Given the description of an element on the screen output the (x, y) to click on. 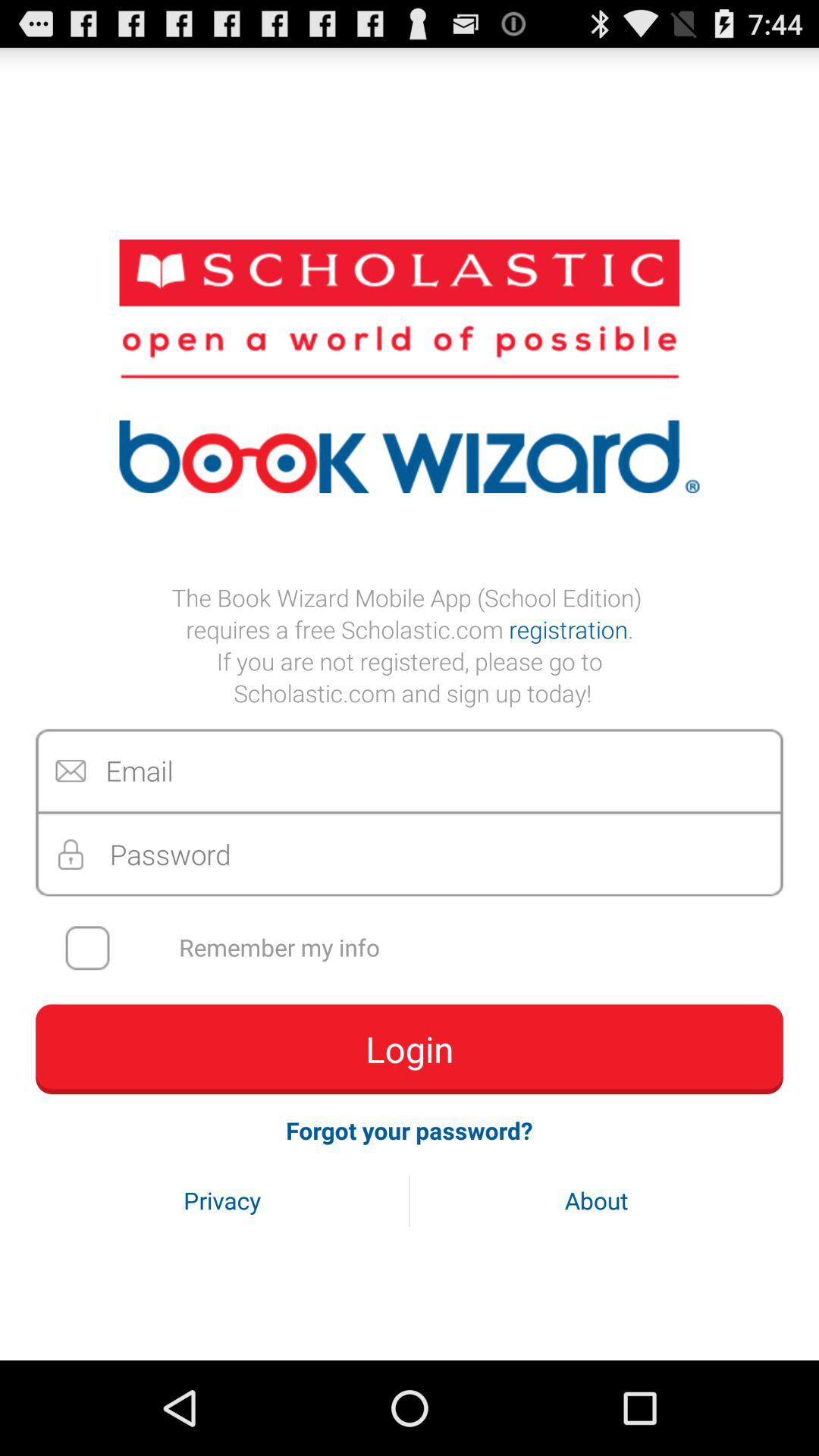
scroll to forgot your password? (409, 1130)
